Given the description of an element on the screen output the (x, y) to click on. 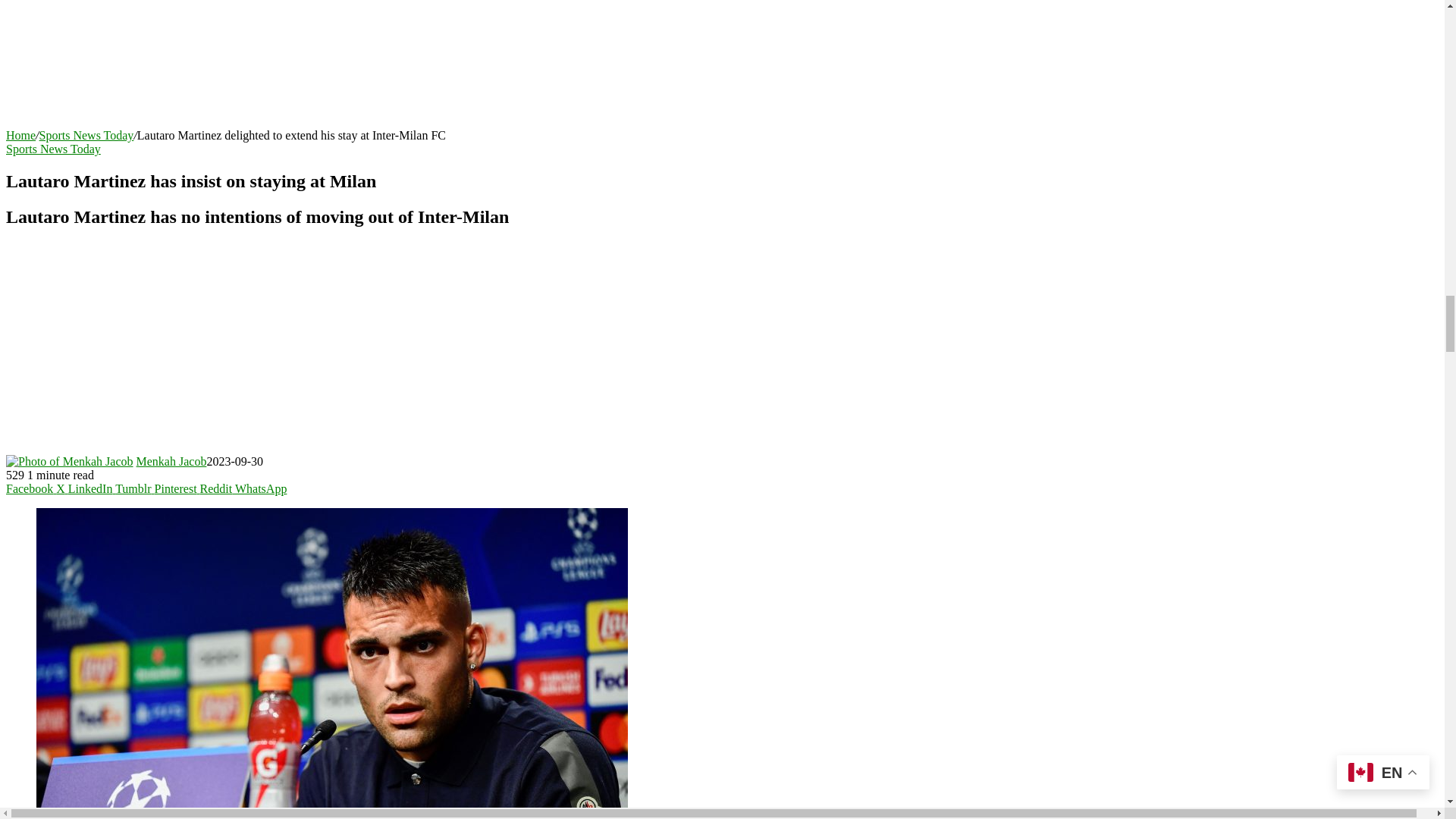
X (62, 488)
Tumblr (134, 488)
Pinterest (177, 488)
Facebook (30, 488)
Menkah Jacob (171, 461)
WhatsApp (260, 488)
Reddit (217, 488)
LinkedIn (91, 488)
